Given the description of an element on the screen output the (x, y) to click on. 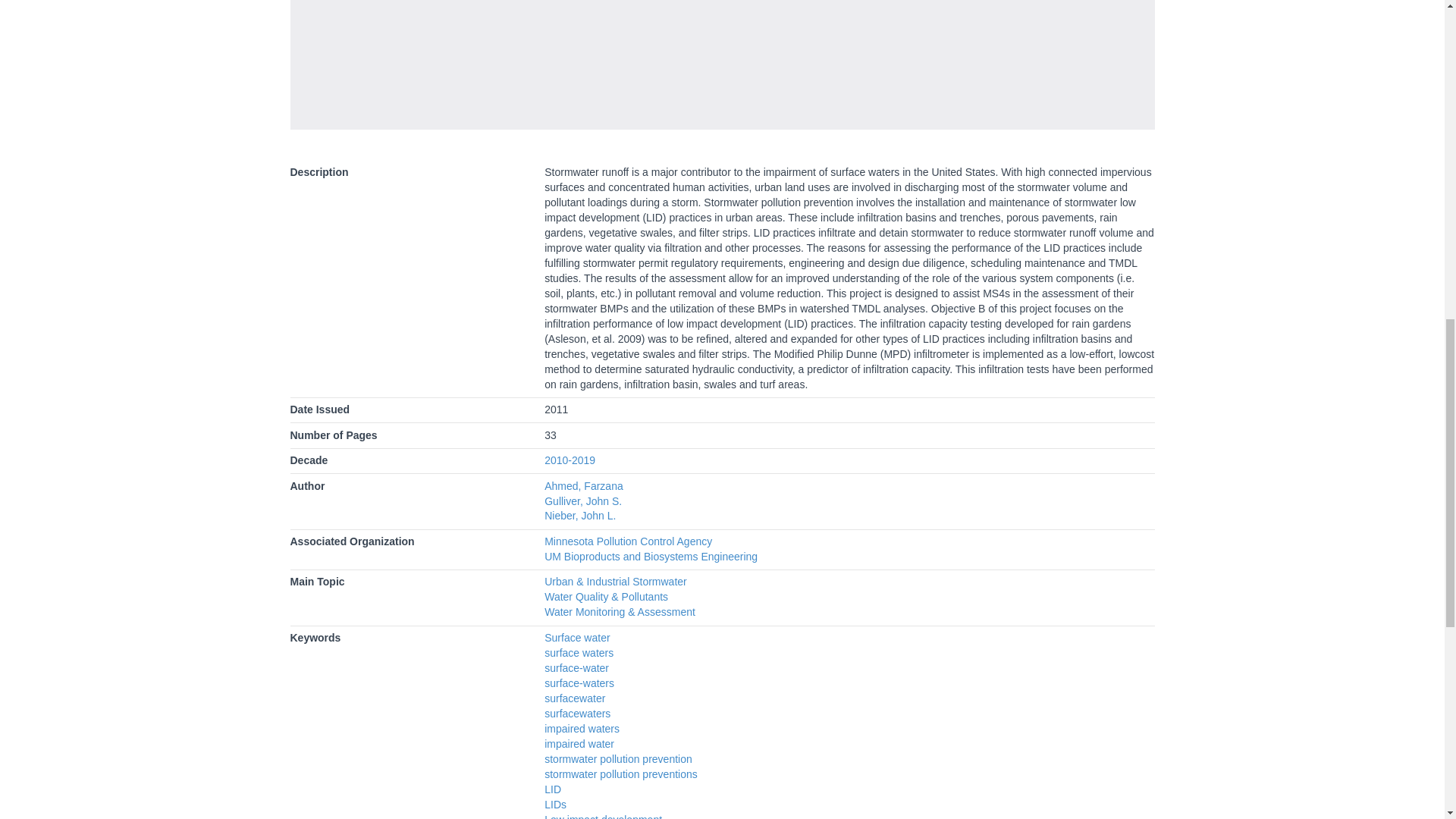
surfacewaters (577, 713)
Gulliver, John S. (582, 500)
surfacewater (574, 698)
impaired water (579, 743)
2010-2019 (569, 460)
surface-waters (579, 683)
surface waters (578, 653)
Surface water (577, 637)
Minnesota Pollution Control Agency (627, 541)
